Given the description of an element on the screen output the (x, y) to click on. 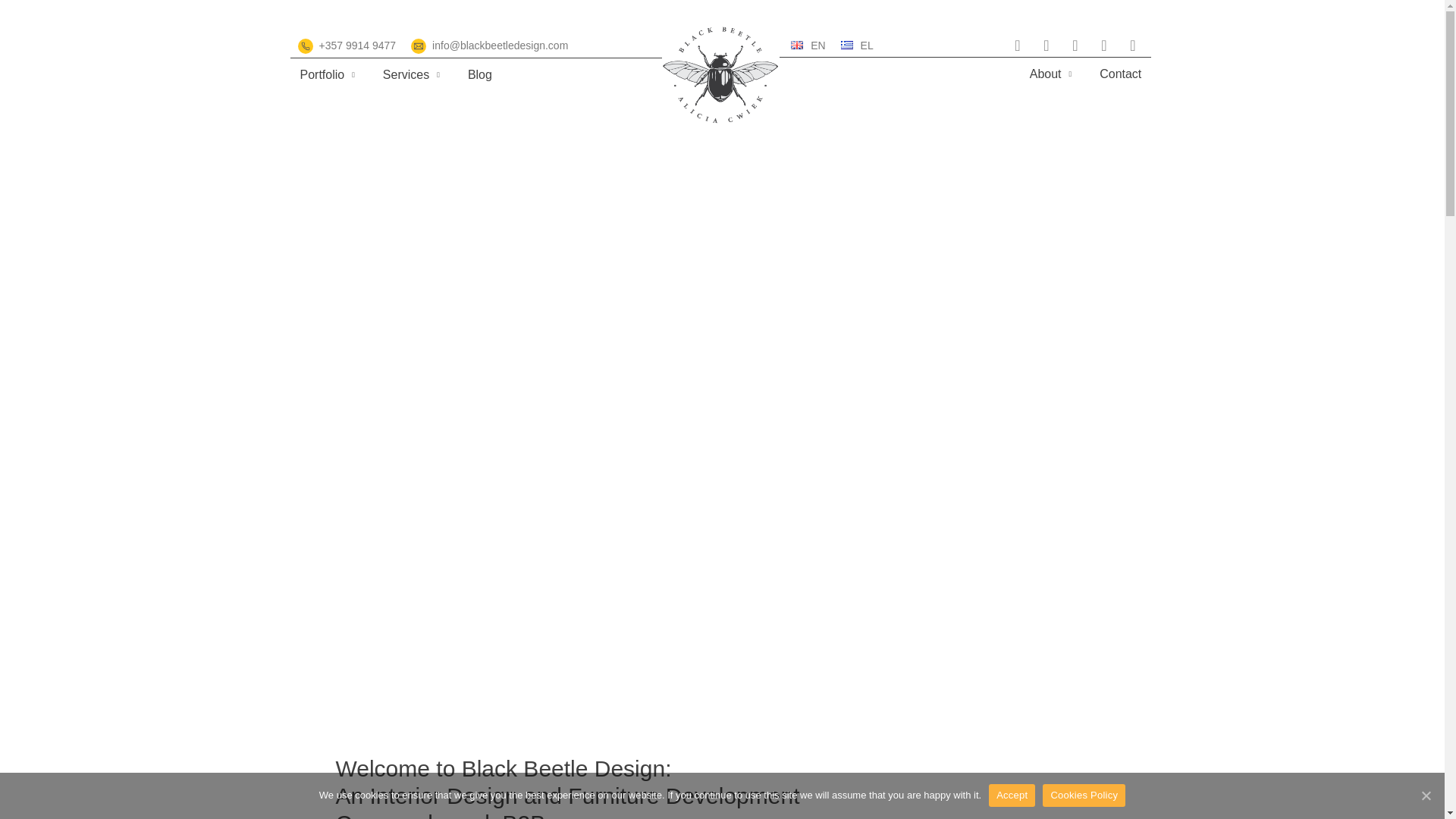
EN (807, 45)
About (1050, 73)
Services (410, 74)
Portfolio (326, 74)
Blog (480, 74)
EL (857, 45)
